Given the description of an element on the screen output the (x, y) to click on. 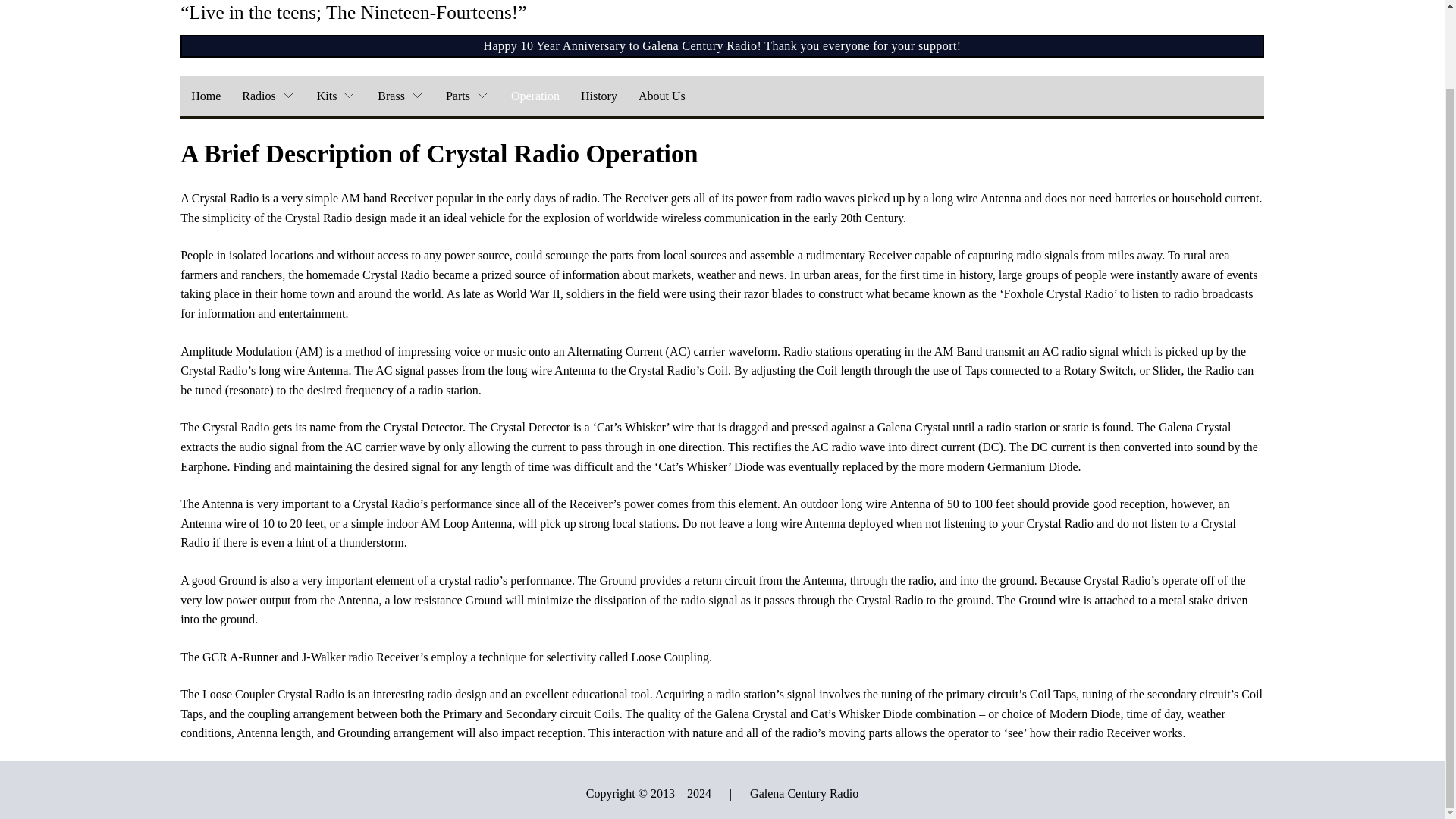
History (598, 96)
Parts (467, 96)
Operation (535, 96)
Home (205, 96)
About Us (661, 96)
Brass (400, 96)
Radios (268, 96)
Kits (336, 96)
